Given the description of an element on the screen output the (x, y) to click on. 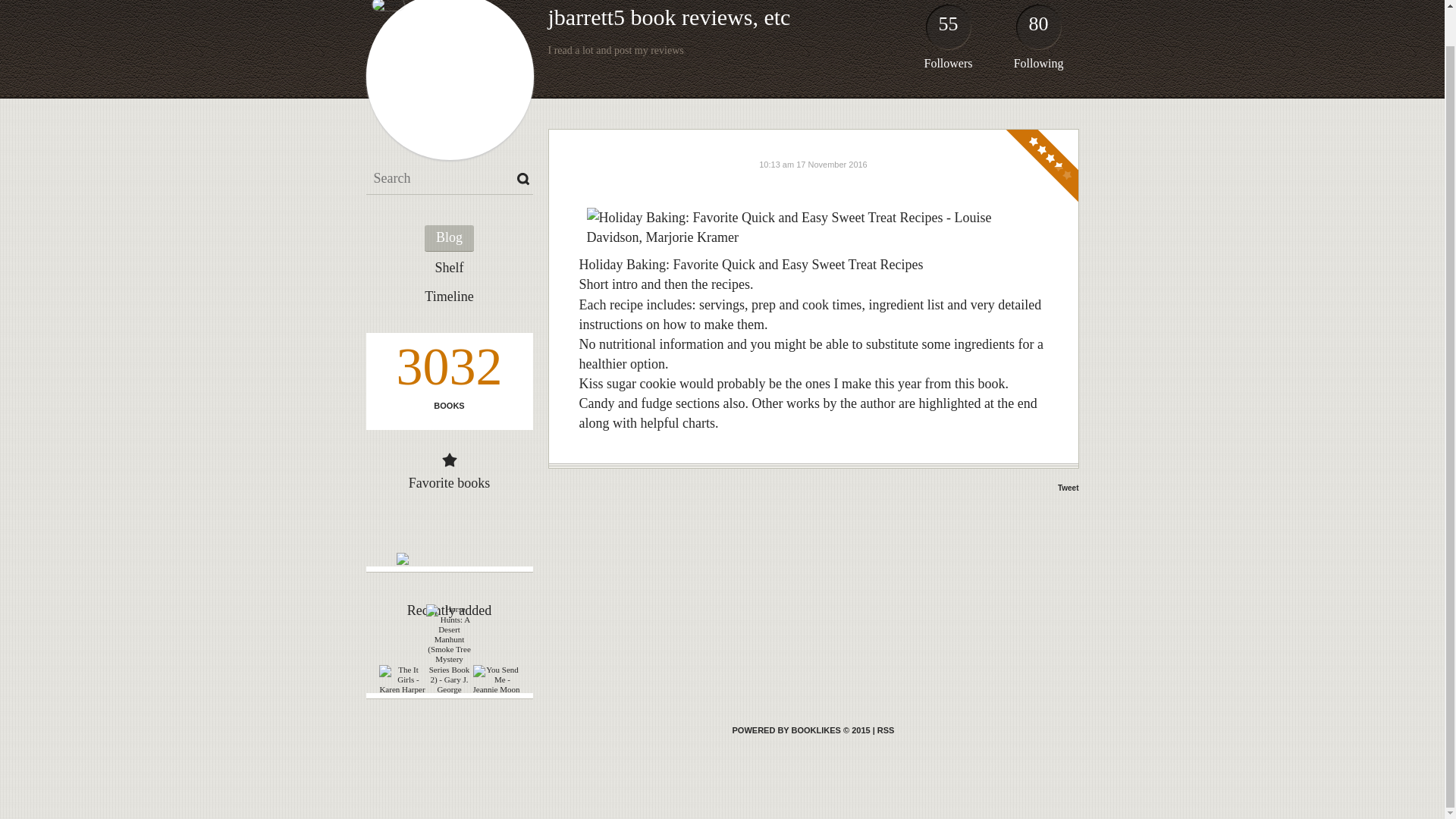
BookLikes (801, 729)
80 (1038, 30)
jbarrett5 book reviews, etc (668, 16)
Recently added (449, 610)
Timeline (448, 297)
3032 (448, 370)
BOOKS (448, 406)
BookLikes (886, 729)
Blog (449, 238)
Favorite books (449, 482)
Shelf (448, 268)
Tweet (1068, 488)
RSS (886, 729)
55 (947, 30)
10:13 am 17 November 2016 (812, 163)
